Given the description of an element on the screen output the (x, y) to click on. 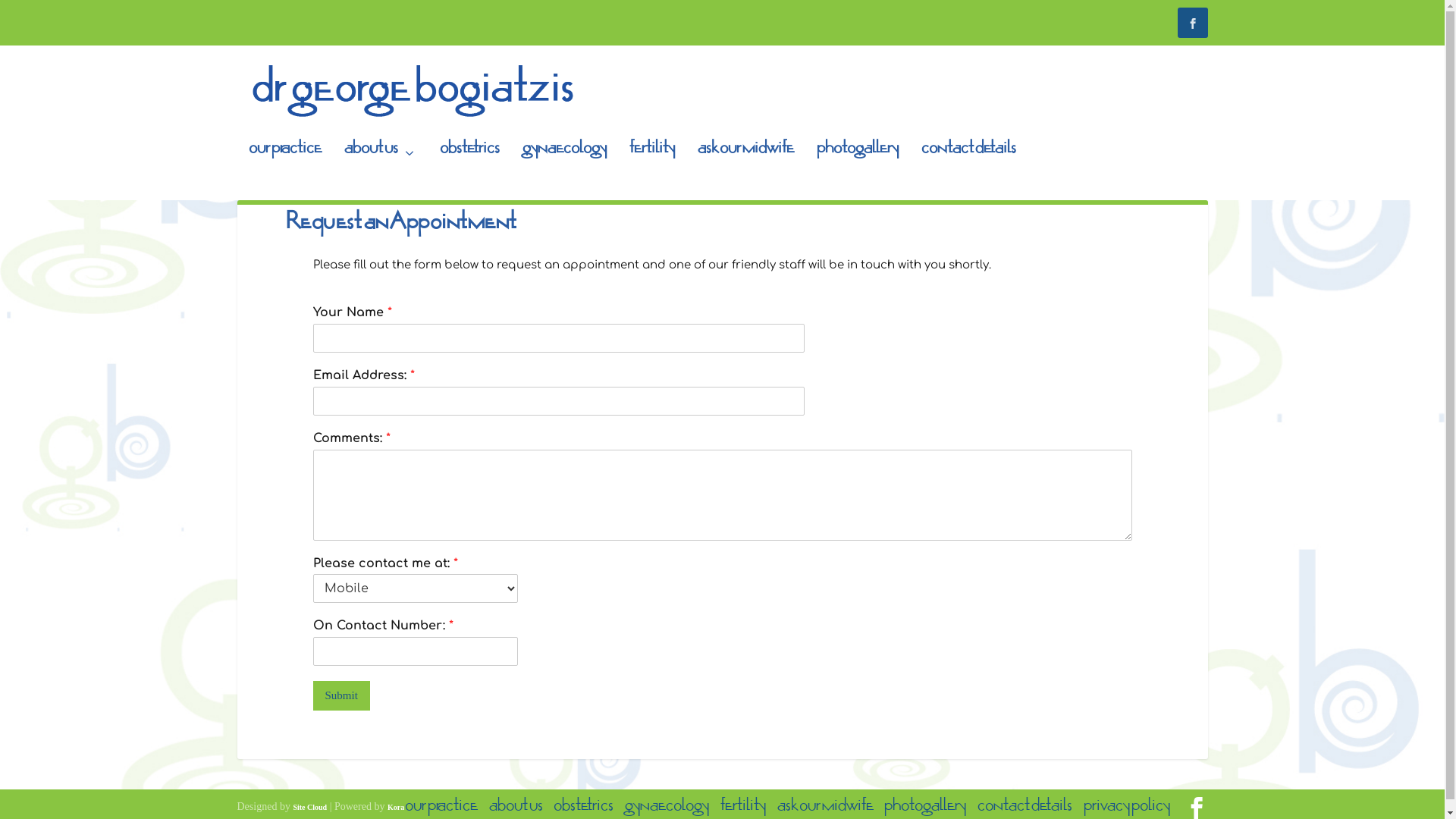
gynaecology Element type: text (666, 810)
obstetrics Element type: text (469, 173)
privacy policy Element type: text (1126, 810)
Site Cloud Element type: text (309, 807)
about us Element type: text (515, 810)
about us Element type: text (380, 173)
obstetrics Element type: text (583, 810)
contact details Element type: text (1024, 810)
ask our midwife Element type: text (745, 173)
fertility Element type: text (742, 810)
our practice Element type: text (440, 810)
Kora Element type: text (395, 807)
ask our midwife Element type: text (824, 810)
fertility Element type: text (651, 173)
Submit Element type: text (340, 695)
contact details Element type: text (967, 173)
photogallery Element type: text (925, 810)
our practice Element type: text (284, 173)
gynaecology Element type: text (563, 173)
photogallery Element type: text (856, 173)
